Given the description of an element on the screen output the (x, y) to click on. 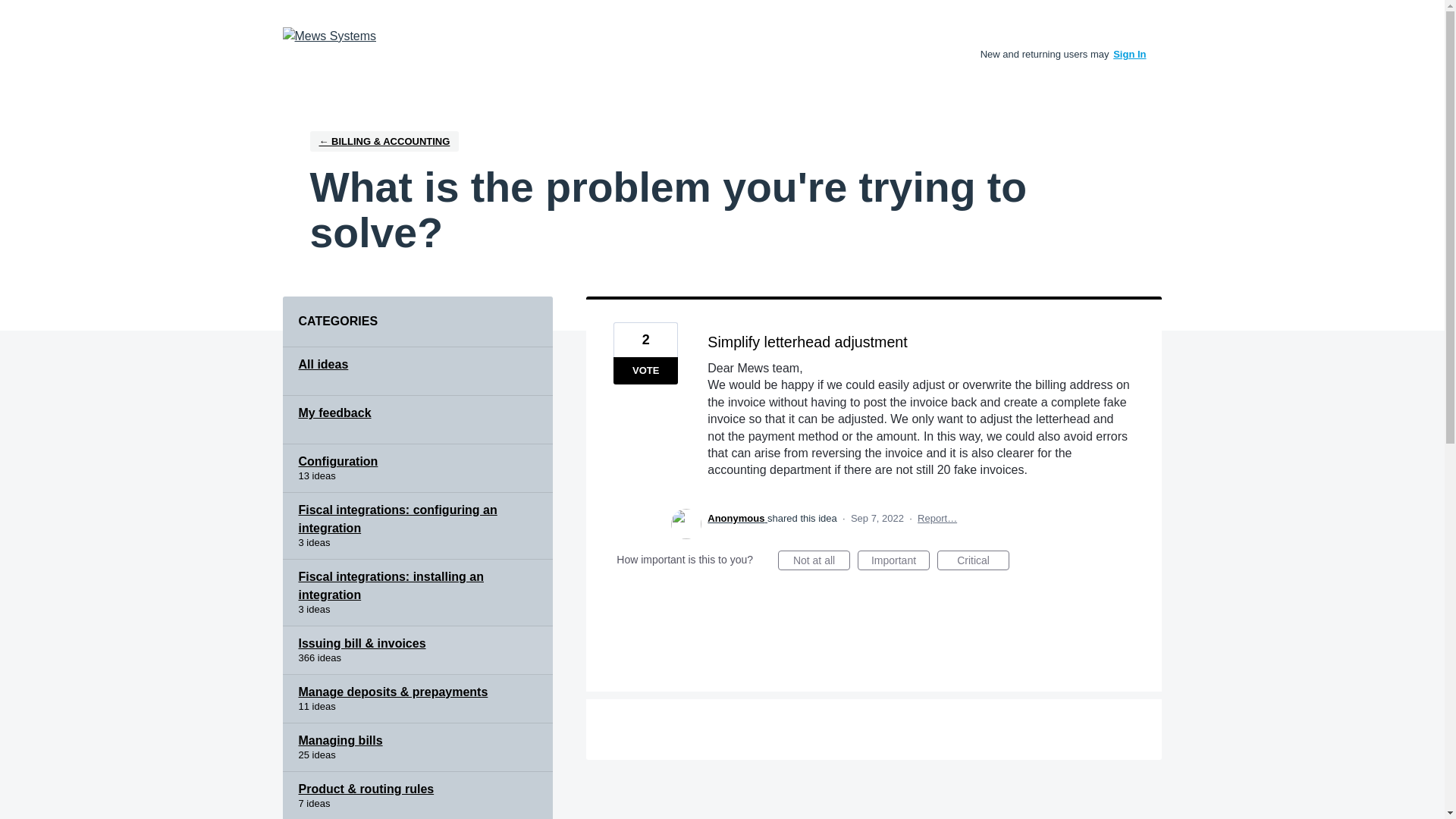
Fiscal integrations: installing an integration (417, 592)
Skip to content (12, 12)
View all ideas in category Configuration (417, 468)
Fiscal integrations: configuring an integration (417, 526)
Managing bills (417, 747)
My feedback (417, 419)
Configuration (417, 468)
All ideas (417, 371)
View all ideas in category Managing bills (417, 747)
Sign In (1129, 53)
Product Ideas Forum (328, 36)
